Given the description of an element on the screen output the (x, y) to click on. 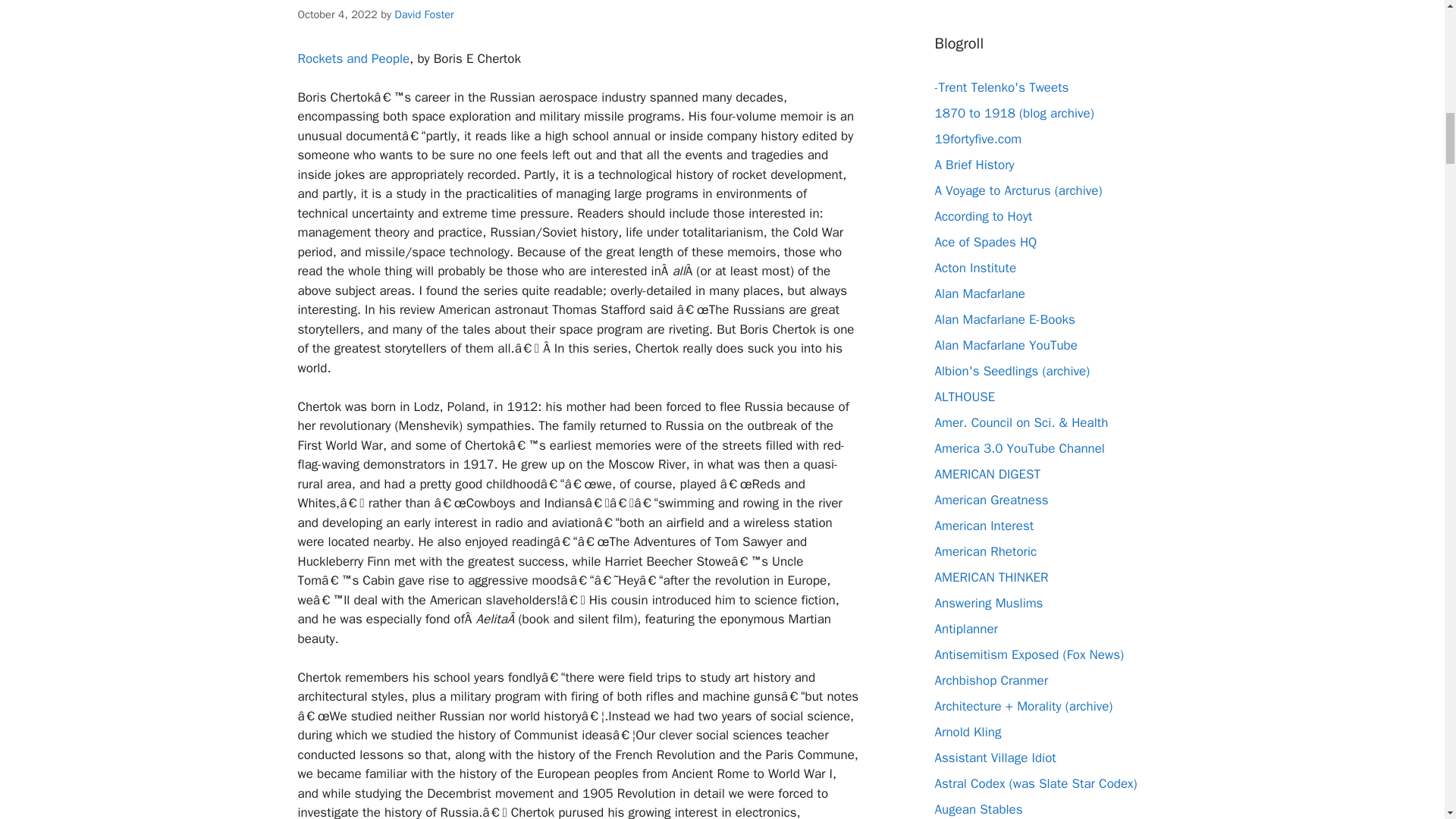
Walter Russell Mead (983, 524)
Rockets and People (353, 58)
View all posts by David Foster (423, 14)
David Foster (423, 14)
